Given the description of an element on the screen output the (x, y) to click on. 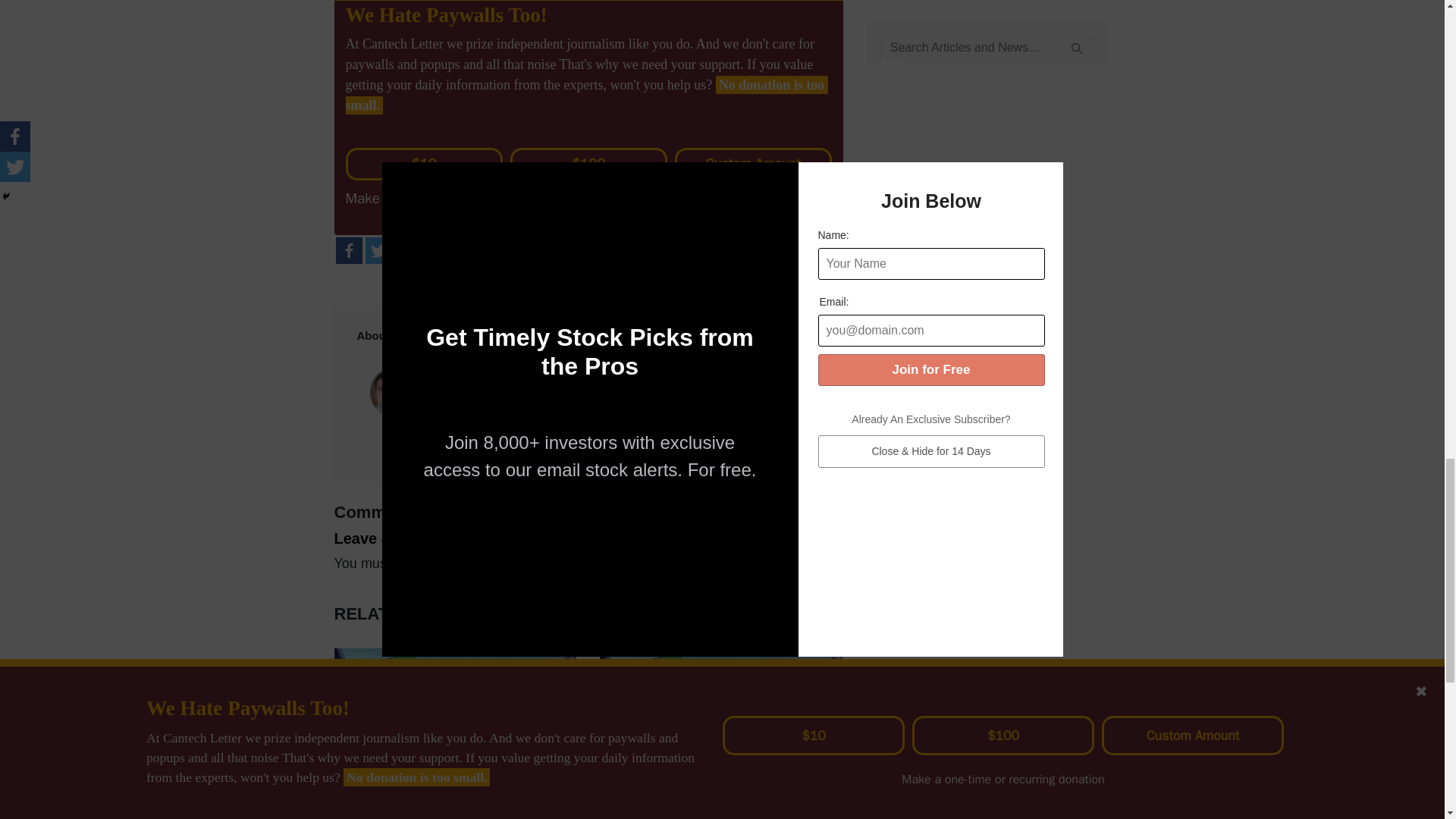
Facebook (347, 250)
More (407, 250)
Twitter (378, 250)
Custom Amount (753, 164)
